Given the description of an element on the screen output the (x, y) to click on. 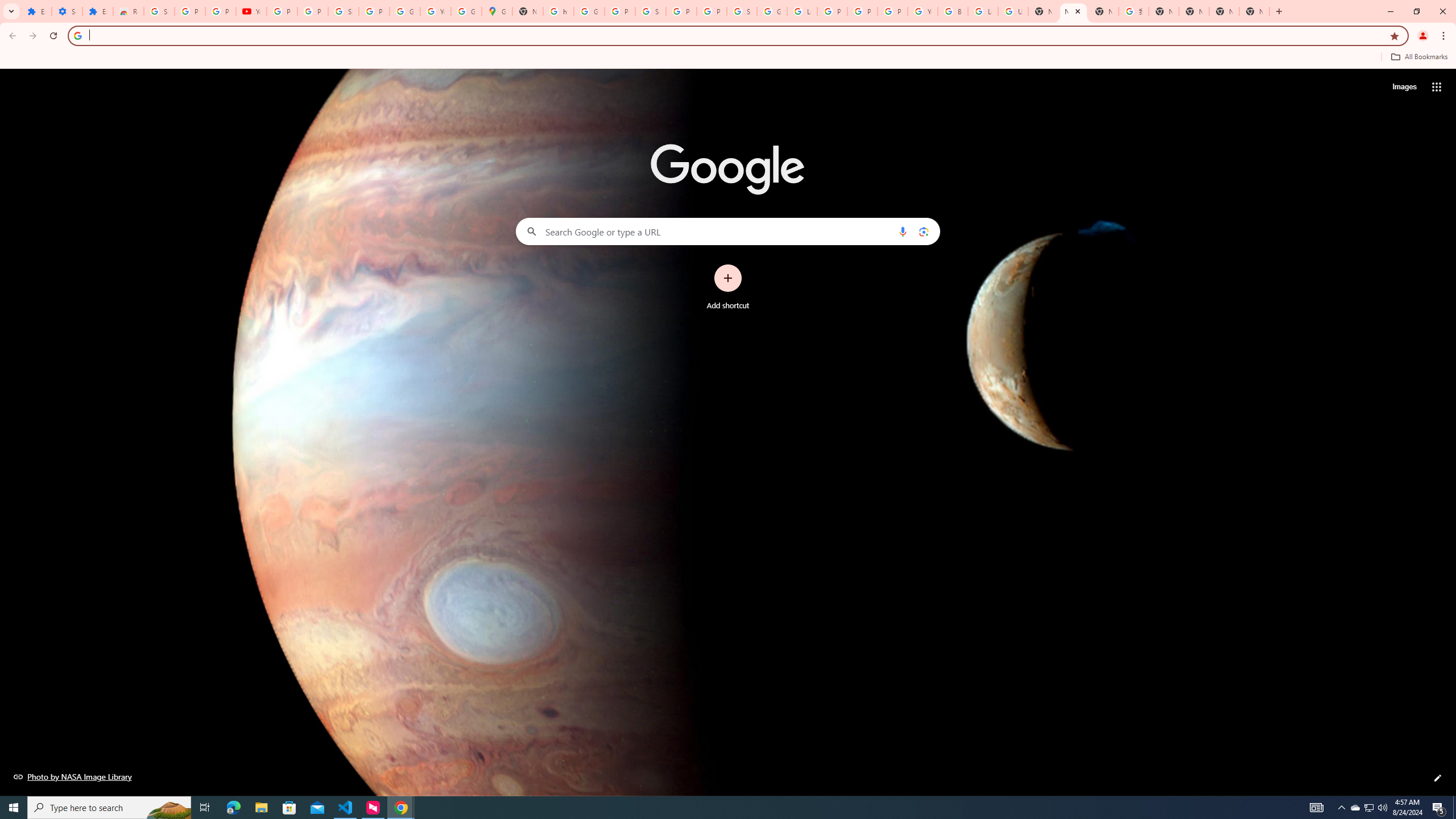
Google Maps (496, 11)
YouTube (251, 11)
Google Account (404, 11)
Search Google or type a URL (727, 230)
Settings (66, 11)
Search for Images  (1403, 87)
Reviews: Helix Fruit Jump Arcade Game (127, 11)
